Given the description of an element on the screen output the (x, y) to click on. 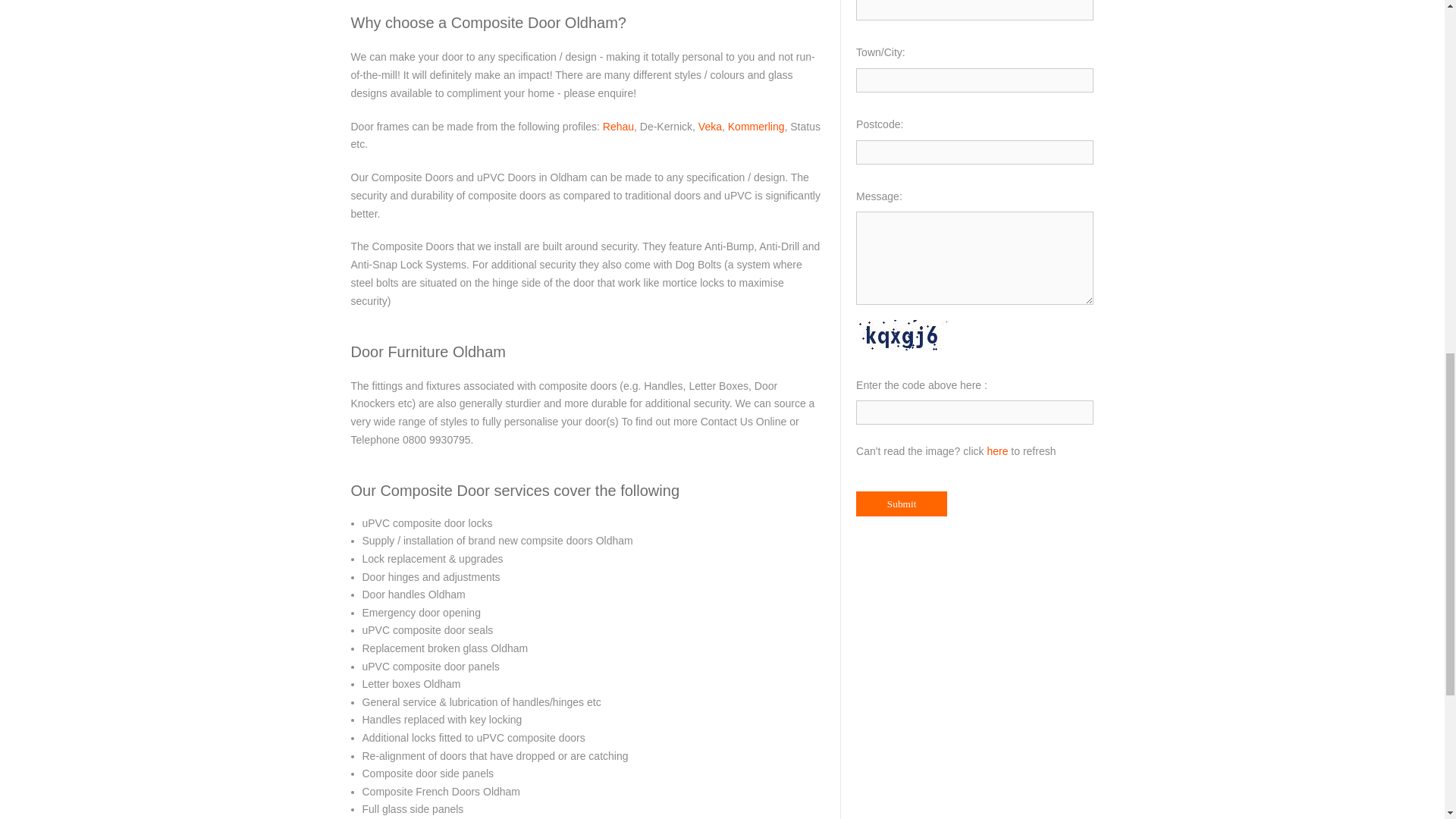
Veka (710, 125)
Kommerling (756, 125)
Submit (901, 503)
Rehau (617, 125)
here (997, 451)
Submit (901, 503)
